Given the description of an element on the screen output the (x, y) to click on. 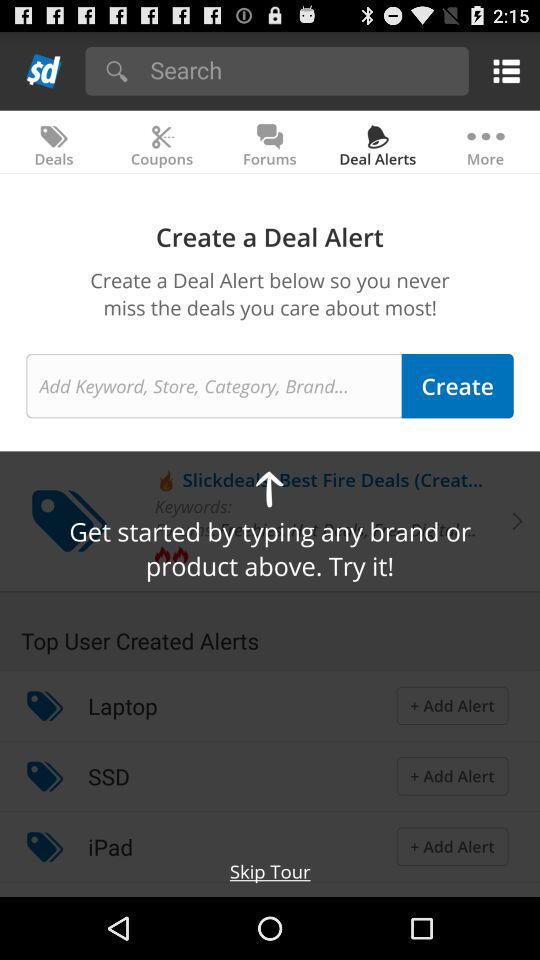
tap icon below ssd app (110, 846)
